Given the description of an element on the screen output the (x, y) to click on. 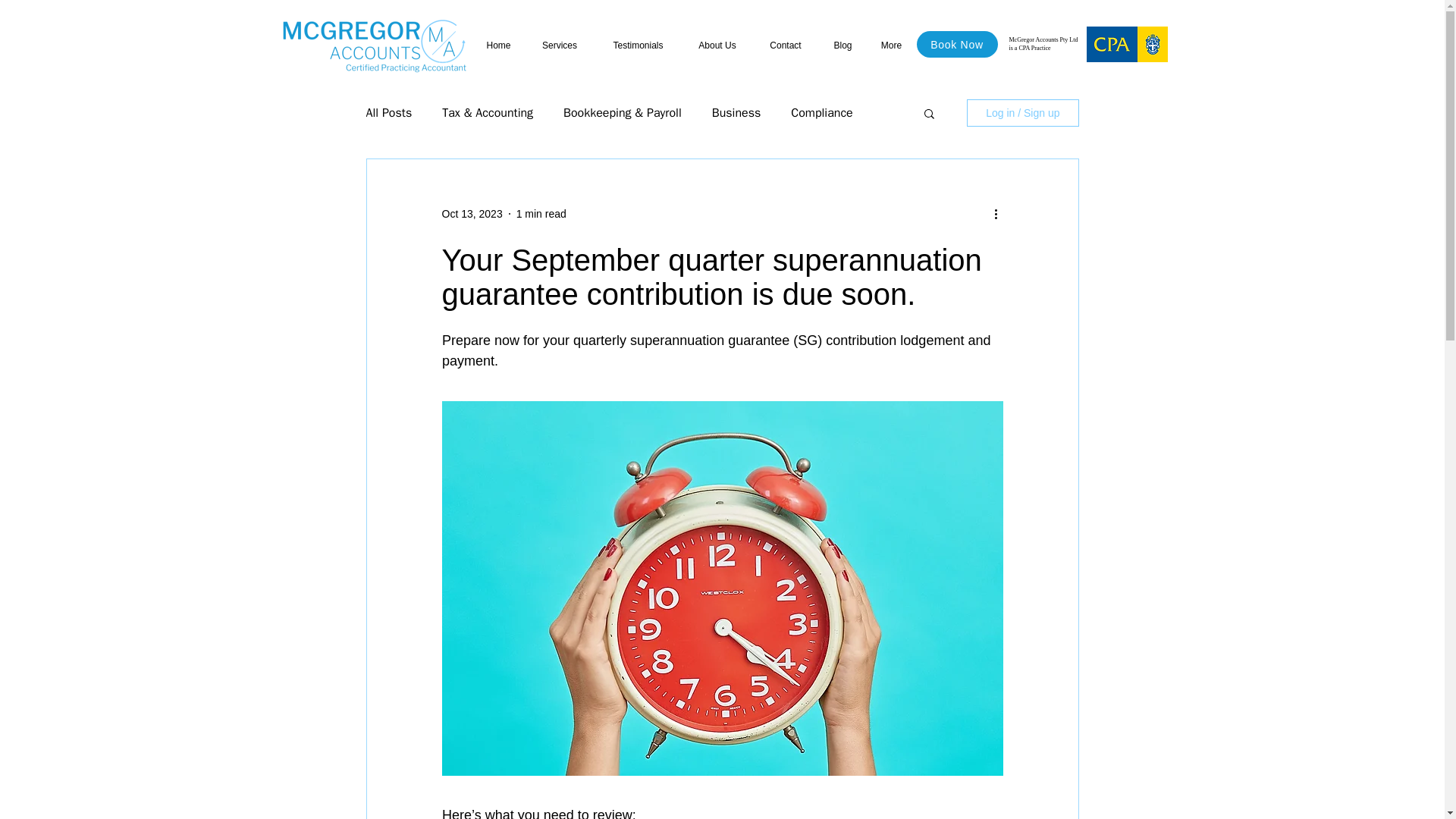
About Us (716, 45)
Blog (842, 45)
All Posts (388, 112)
Contact (785, 45)
1 min read (541, 214)
Book Now (956, 44)
Home (498, 45)
Business (736, 112)
Testimonials (637, 45)
Oct 13, 2023 (471, 214)
Services (559, 45)
Compliance (820, 112)
